Given the description of an element on the screen output the (x, y) to click on. 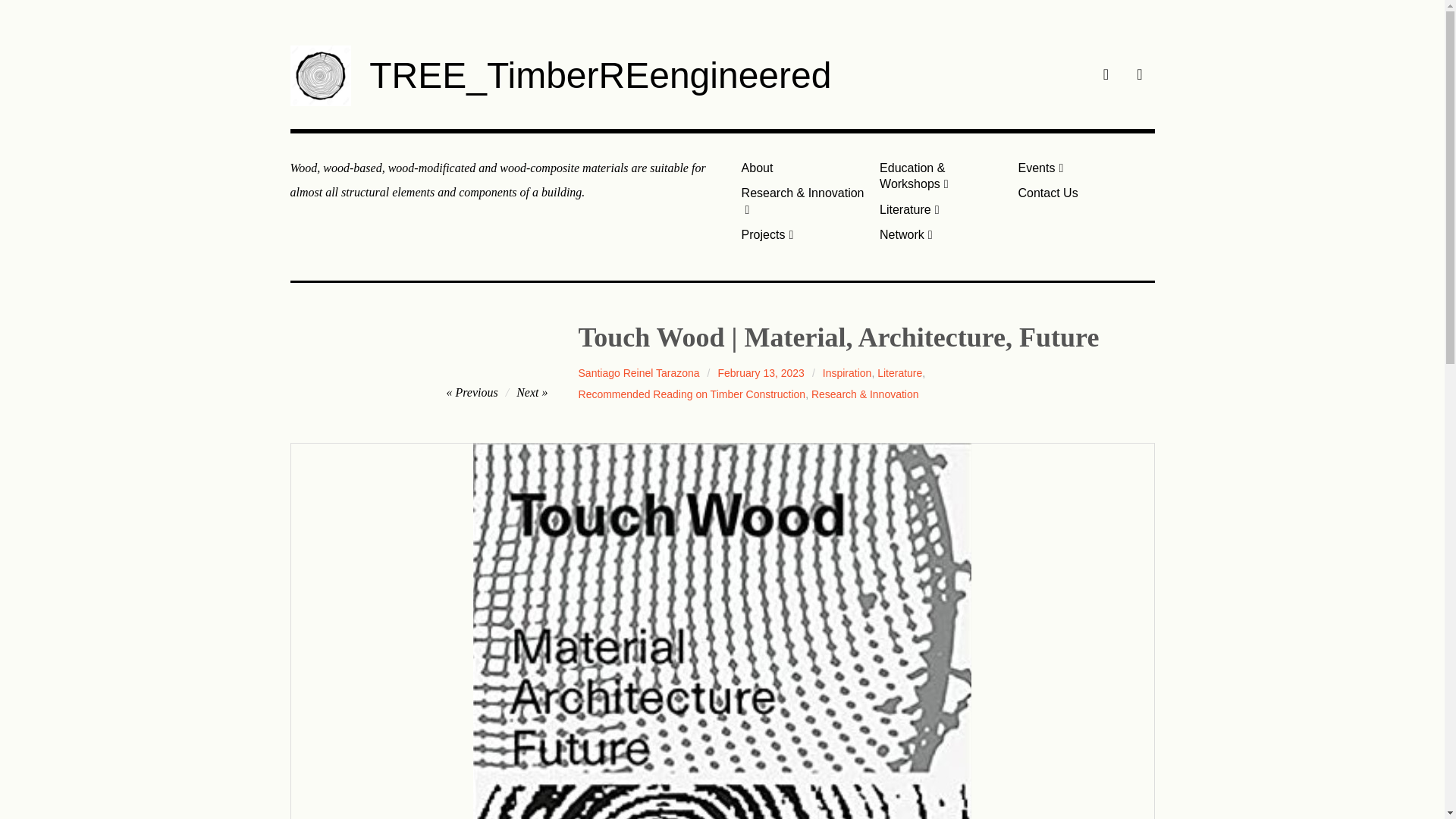
Literature (942, 209)
Projects (804, 234)
About (804, 167)
Inst (1138, 75)
Ln (1105, 75)
